Given the description of an element on the screen output the (x, y) to click on. 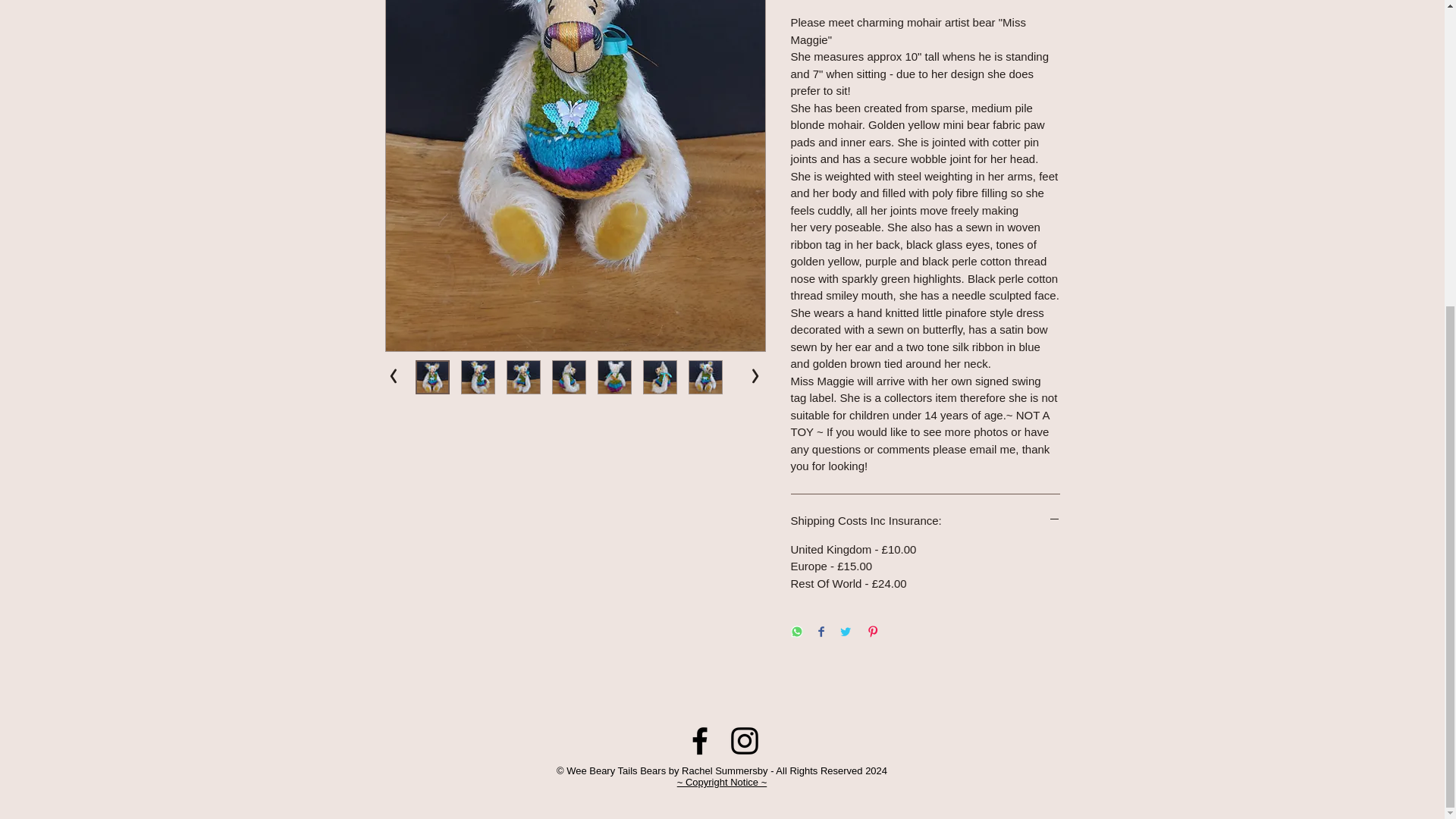
Shipping Costs Inc Insurance: (924, 520)
